Given the description of an element on the screen output the (x, y) to click on. 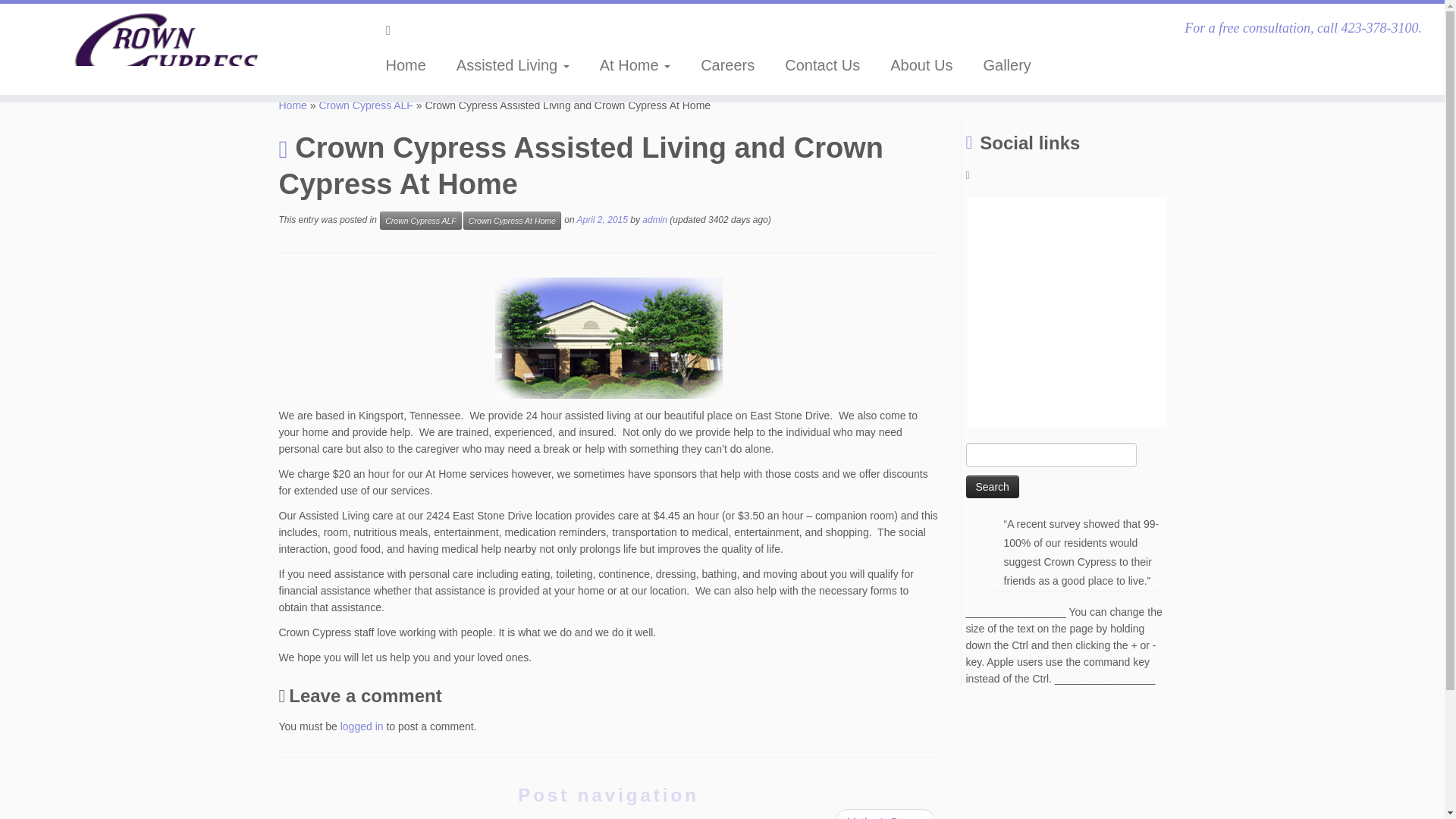
Gallery (999, 65)
About Us (921, 65)
Careers (727, 65)
Crown Cypress At Home (511, 220)
Crown Cypress ALF (365, 105)
10:09 am (601, 219)
At Home (635, 65)
Search (992, 486)
April 2, 2015 (601, 219)
View all posts by admin (654, 219)
